Given the description of an element on the screen output the (x, y) to click on. 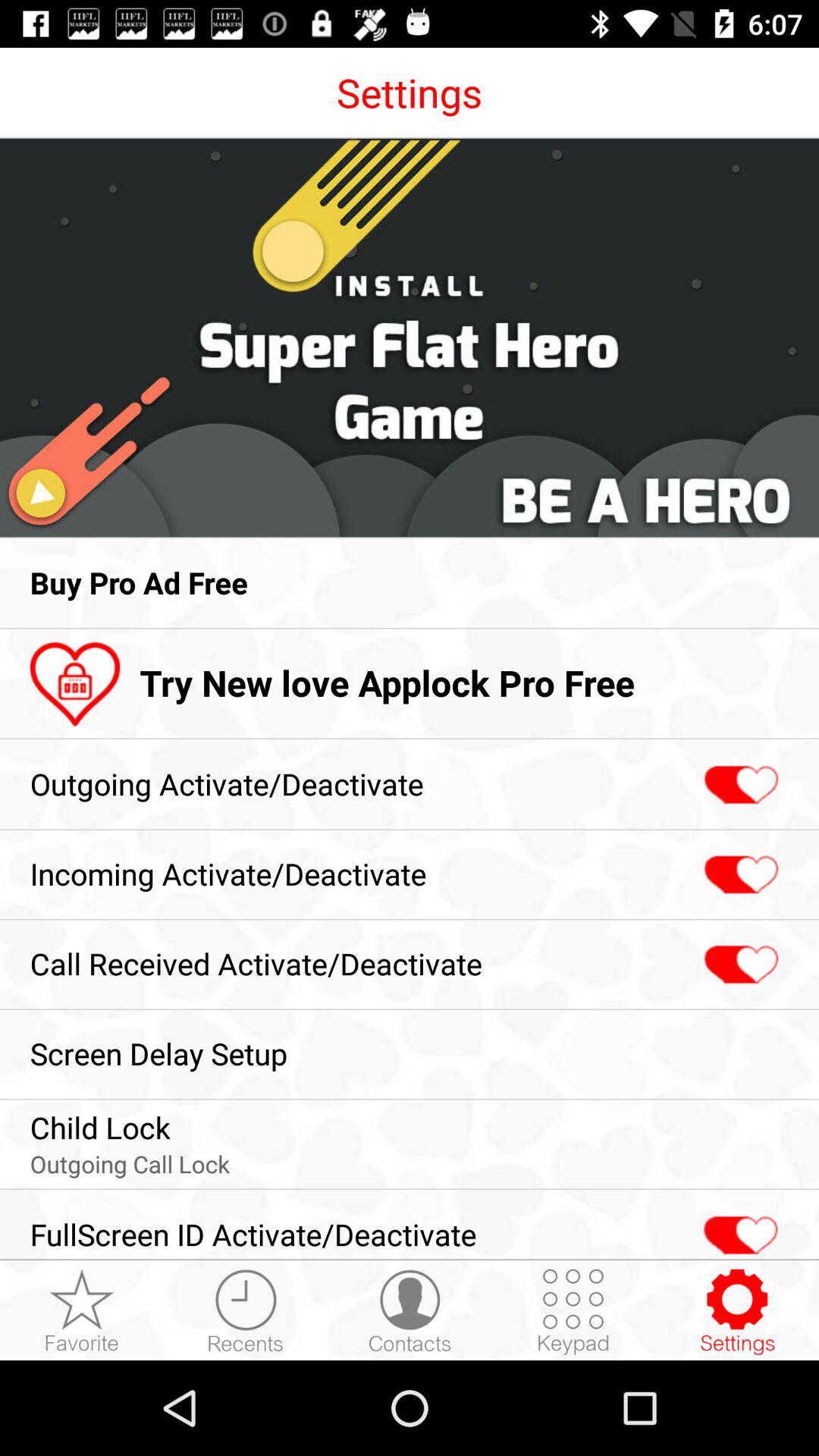
contacts (409, 1311)
